Given the description of an element on the screen output the (x, y) to click on. 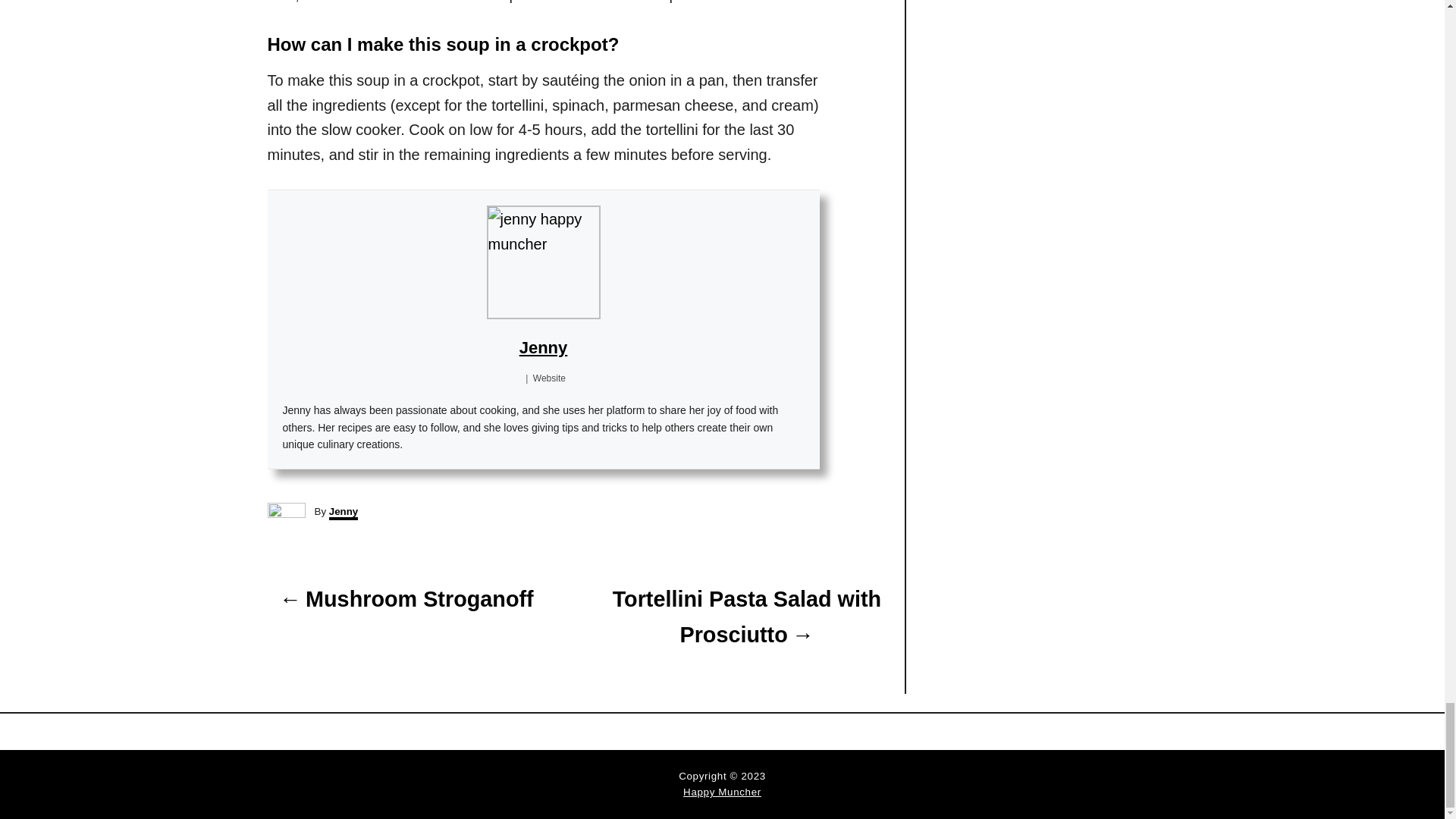
Tortellini Pasta Salad with Prosciutto (746, 616)
Website (549, 378)
Mushroom Stroganoff (405, 599)
Jenny (343, 513)
Jenny (543, 347)
